Given the description of an element on the screen output the (x, y) to click on. 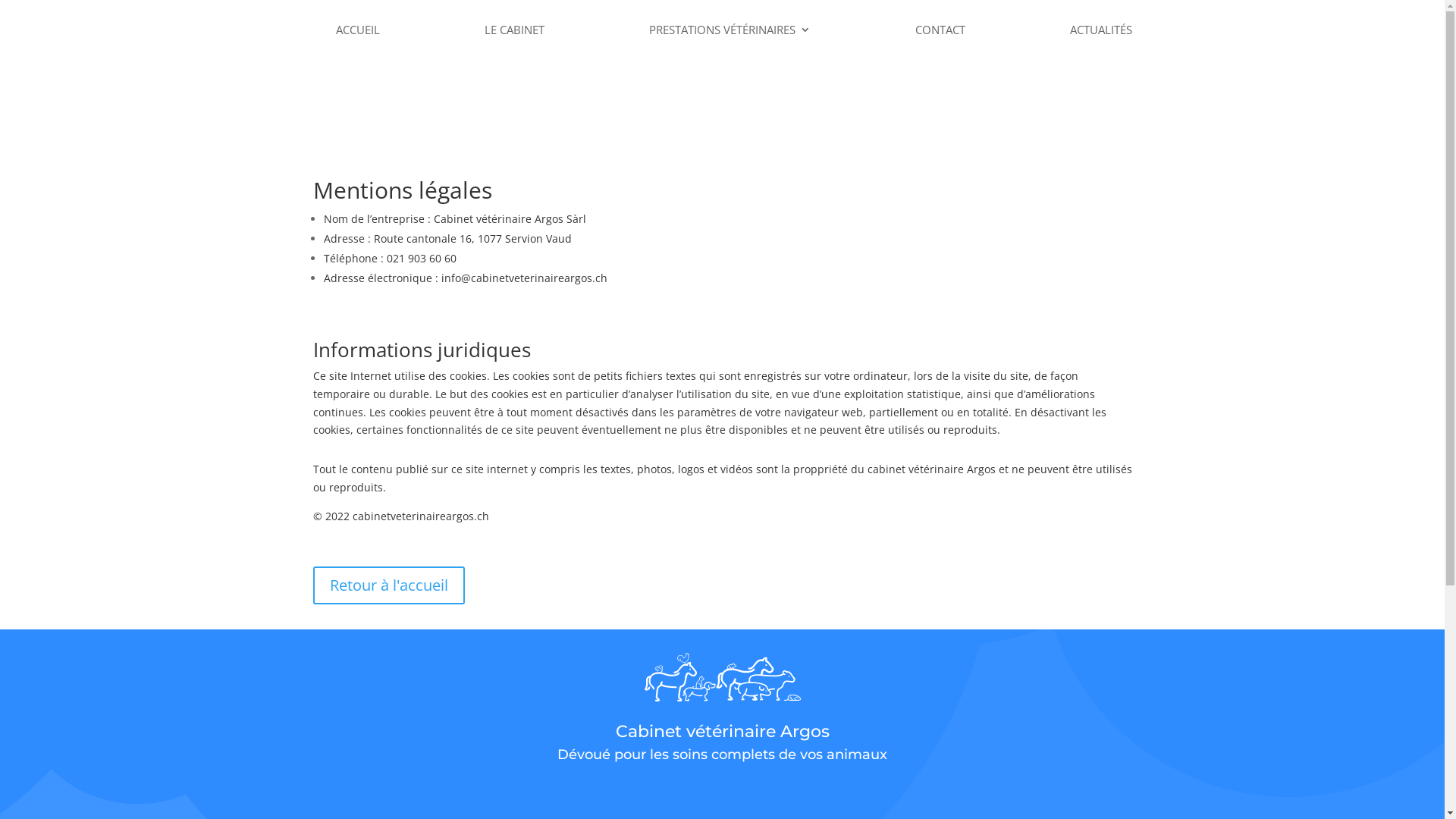
LE CABINET Element type: text (513, 29)
ACCUEIL Element type: text (357, 29)
CONTACT Element type: text (939, 29)
